Given the description of an element on the screen output the (x, y) to click on. 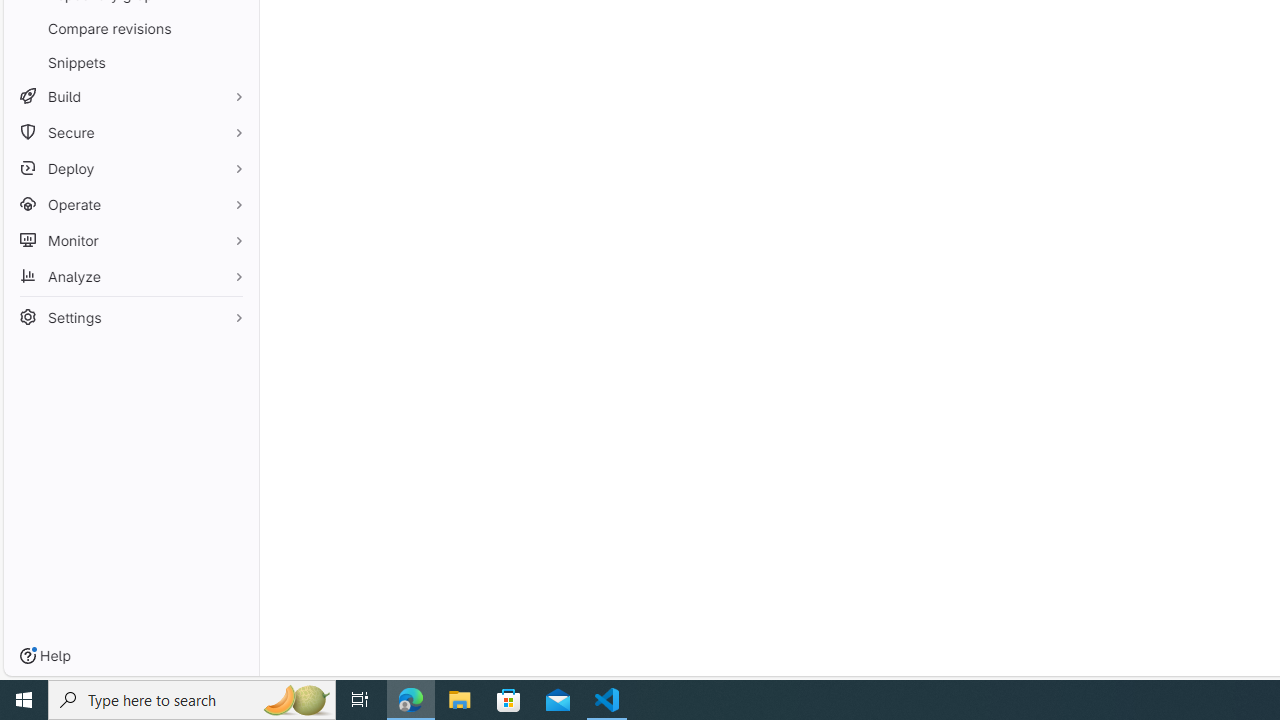
Operate (130, 204)
Compare revisions (130, 28)
Pin Compare revisions (234, 28)
Snippets (130, 62)
Build (130, 96)
Monitor (130, 240)
Compare revisions (130, 28)
Pin Snippets (234, 61)
Analyze (130, 276)
Help (45, 655)
Secure (130, 132)
Build (130, 96)
Analyze (130, 276)
Deploy (130, 168)
